Given the description of an element on the screen output the (x, y) to click on. 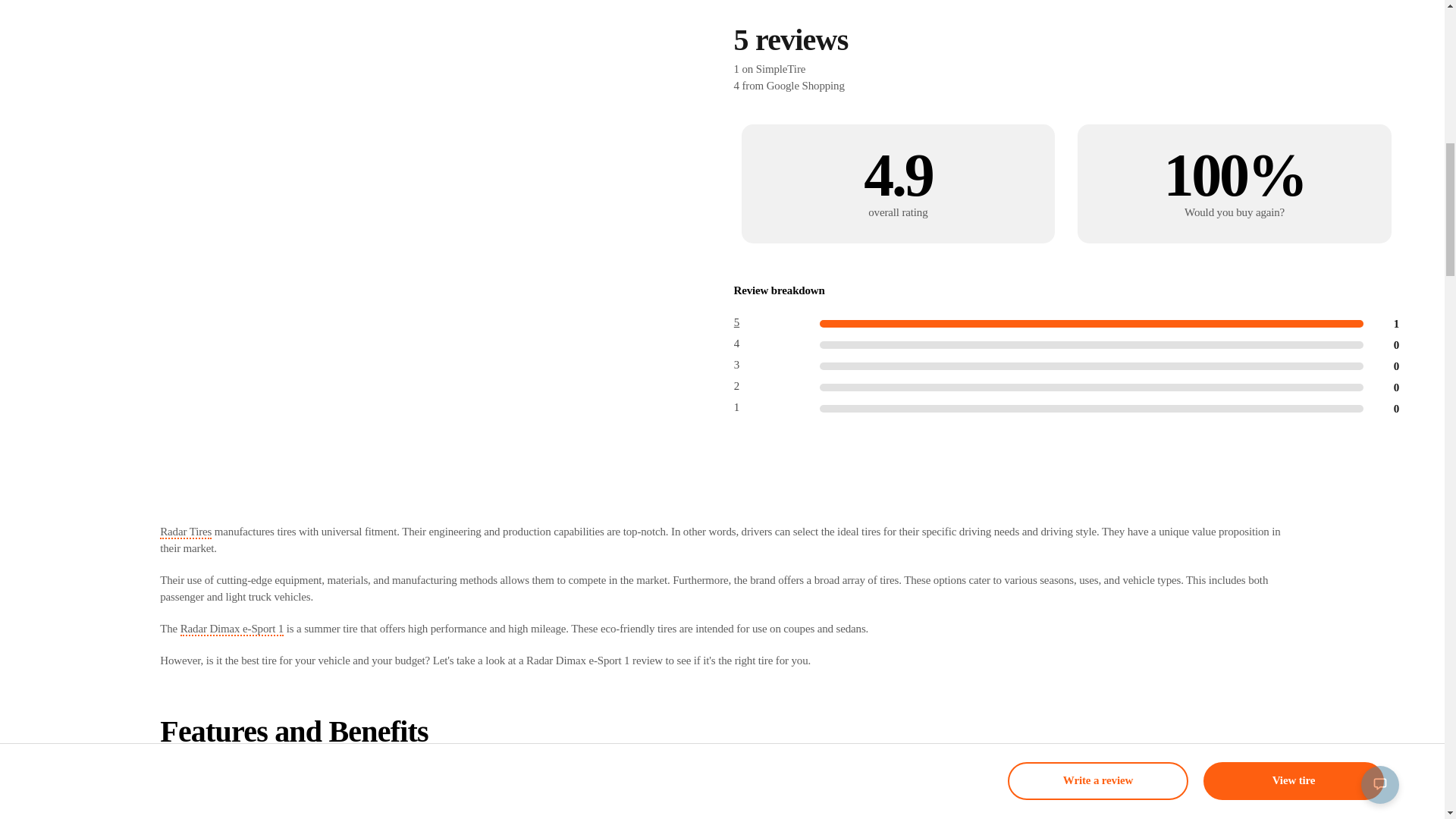
1 (737, 407)
ultra-high-performance (279, 772)
5 (737, 322)
3 (737, 365)
Radar Dimax e-Sport 1 (231, 629)
4 (737, 343)
Radar Tires (185, 531)
2 (737, 386)
